Given the description of an element on the screen output the (x, y) to click on. 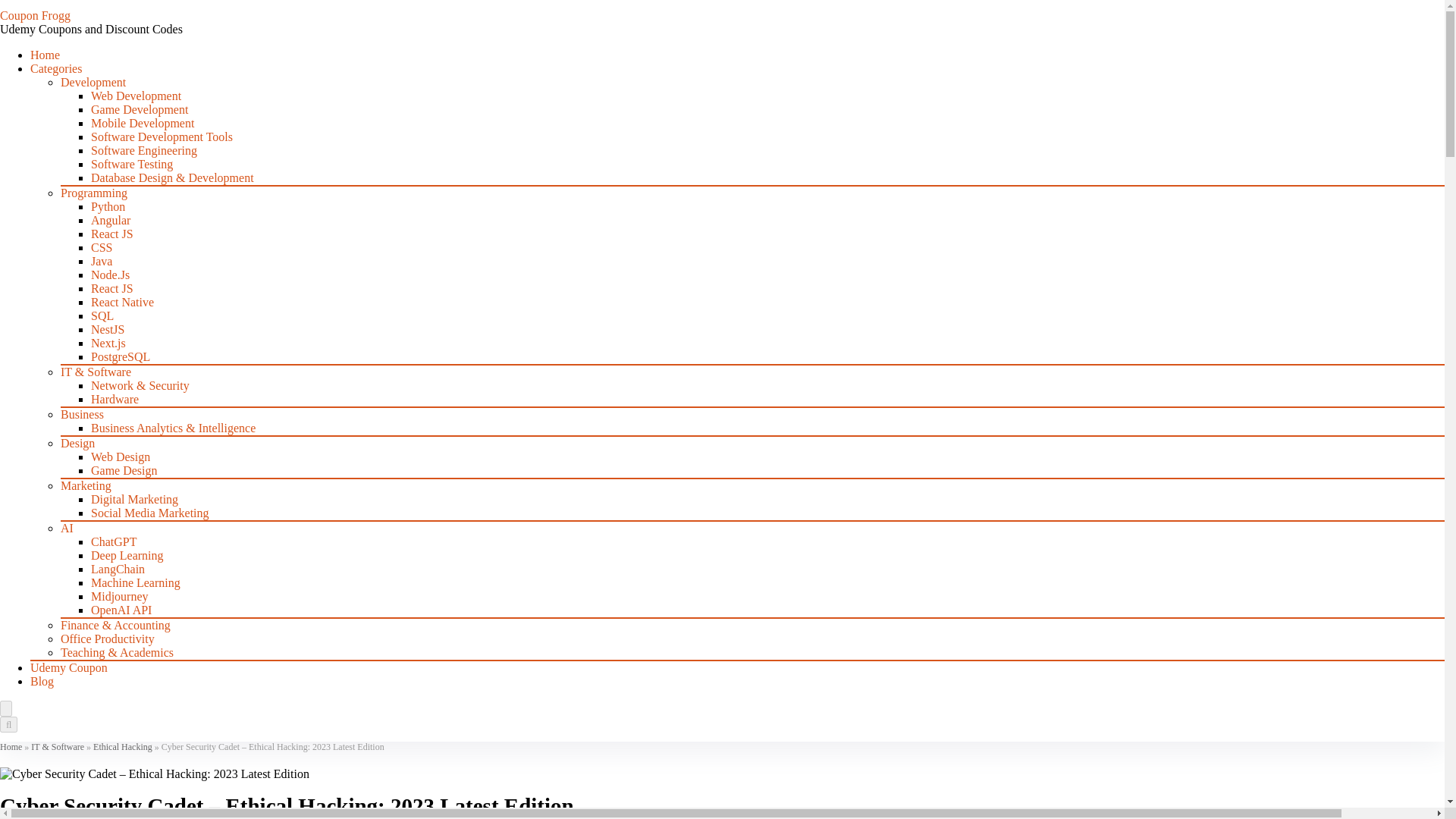
Software Development Tools (161, 136)
Game Design (123, 470)
Hardware (114, 399)
Web Development (135, 95)
Programming (94, 192)
SQL (101, 315)
Game Development (138, 109)
PostgreSQL (119, 356)
Social Media Marketing (149, 512)
Software Testing (131, 164)
Python (107, 205)
ChatGPT (113, 541)
Next.js (107, 342)
Categories (55, 68)
Mobile Development (141, 123)
